Given the description of an element on the screen output the (x, y) to click on. 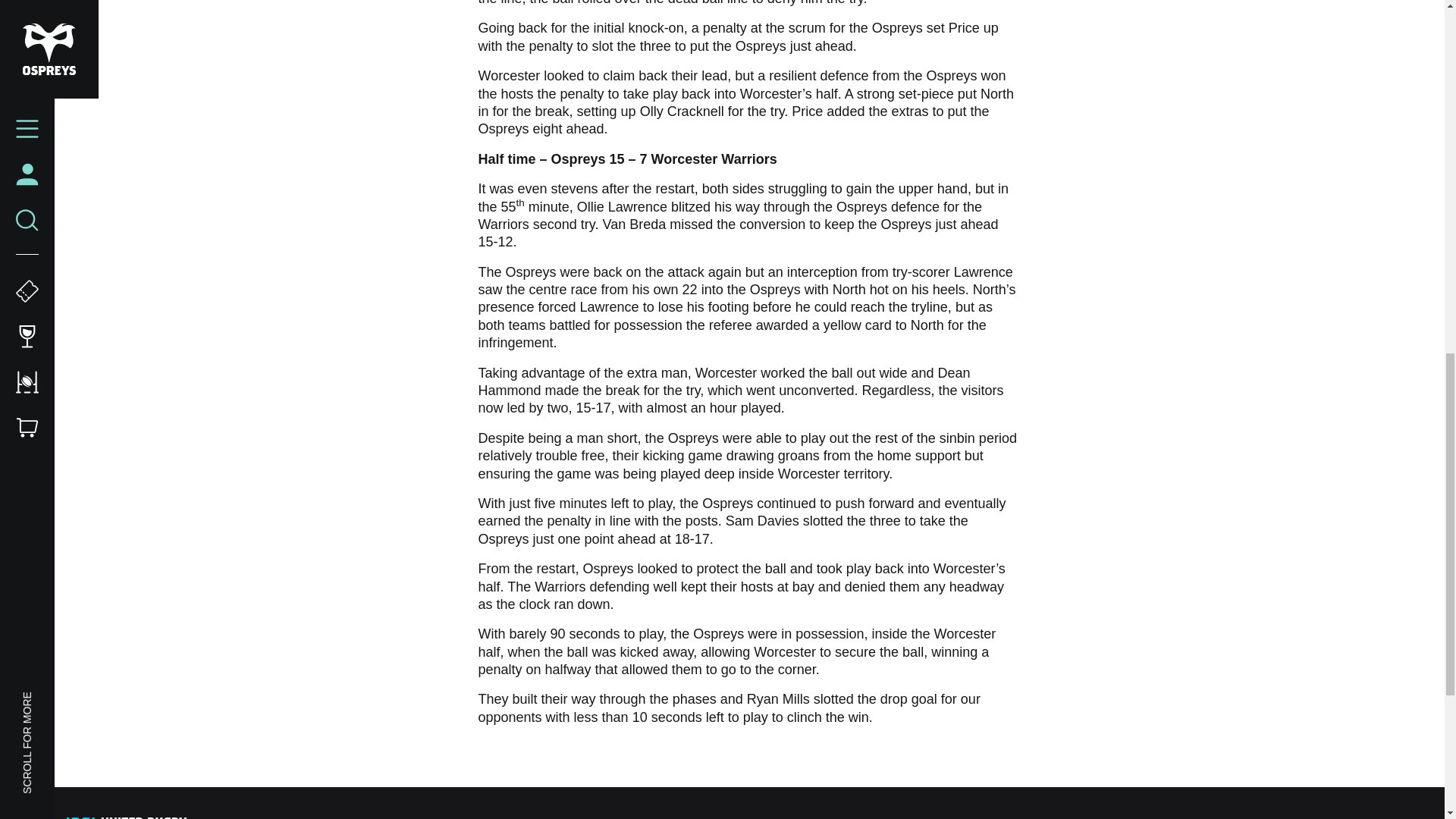
United Rugby Championship (129, 818)
